Given the description of an element on the screen output the (x, y) to click on. 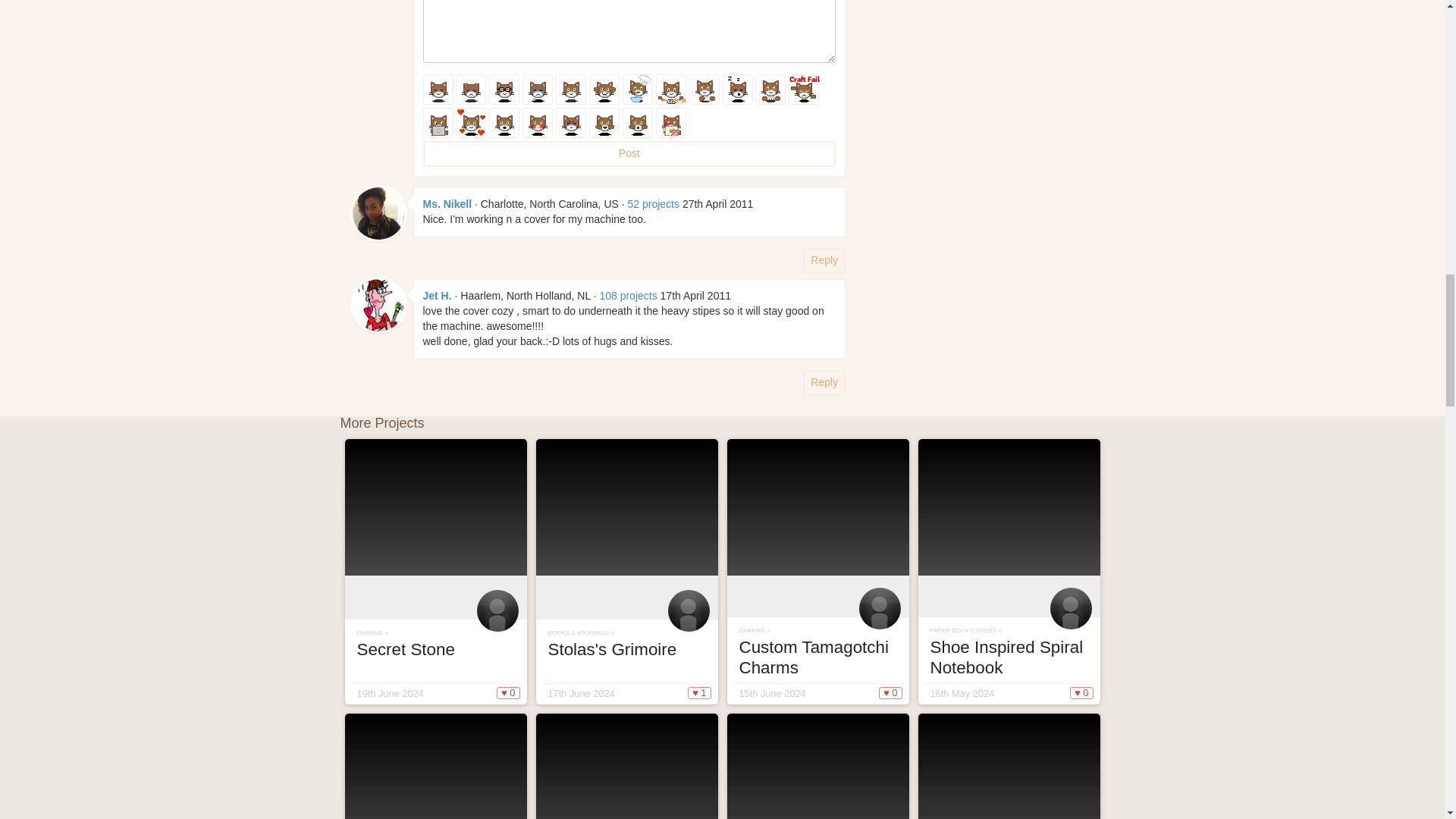
Post (629, 153)
